Given the description of an element on the screen output the (x, y) to click on. 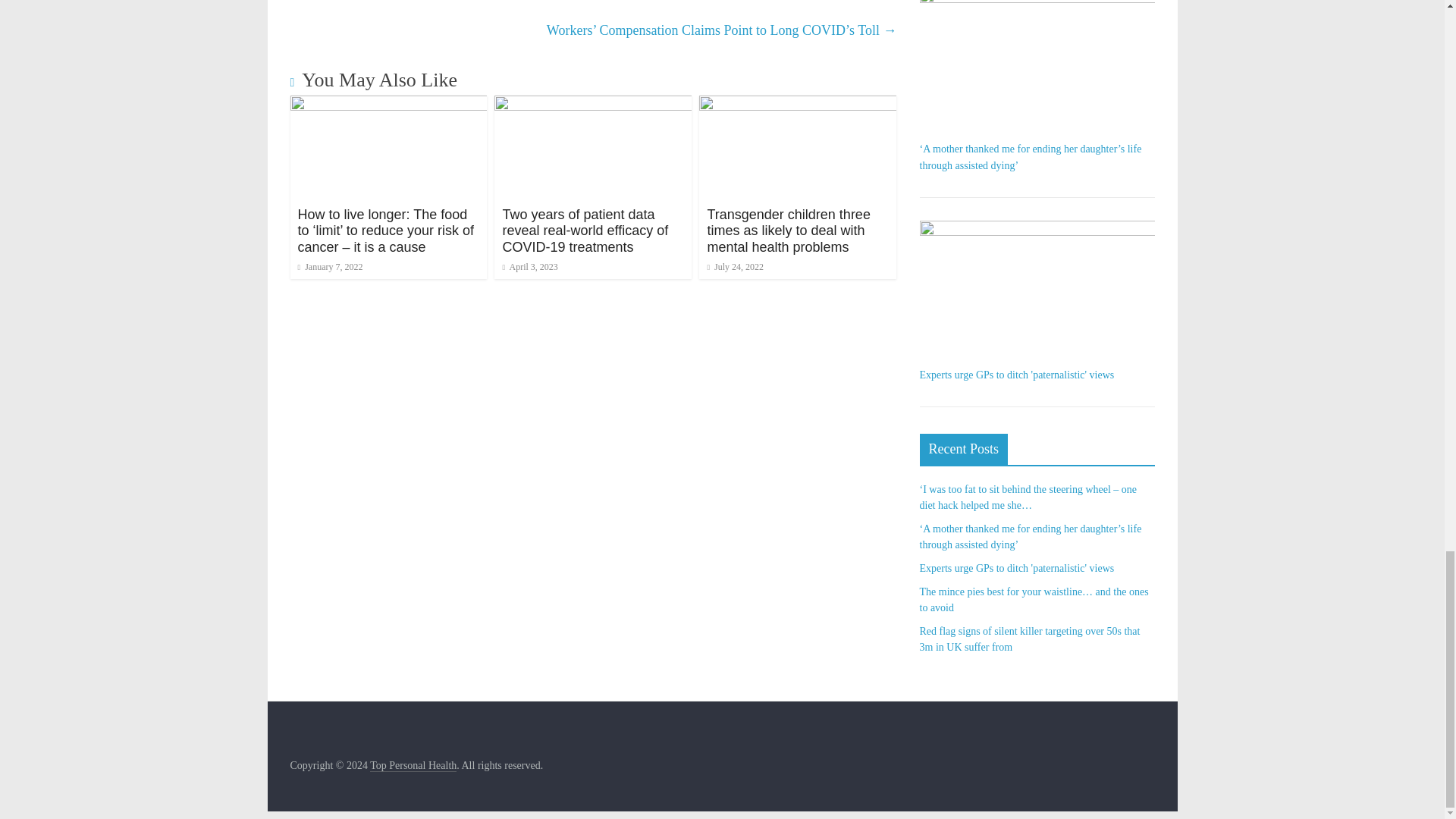
8:56 pm (329, 266)
11:20 am (734, 266)
10:44 pm (529, 266)
July 24, 2022 (734, 266)
